Given the description of an element on the screen output the (x, y) to click on. 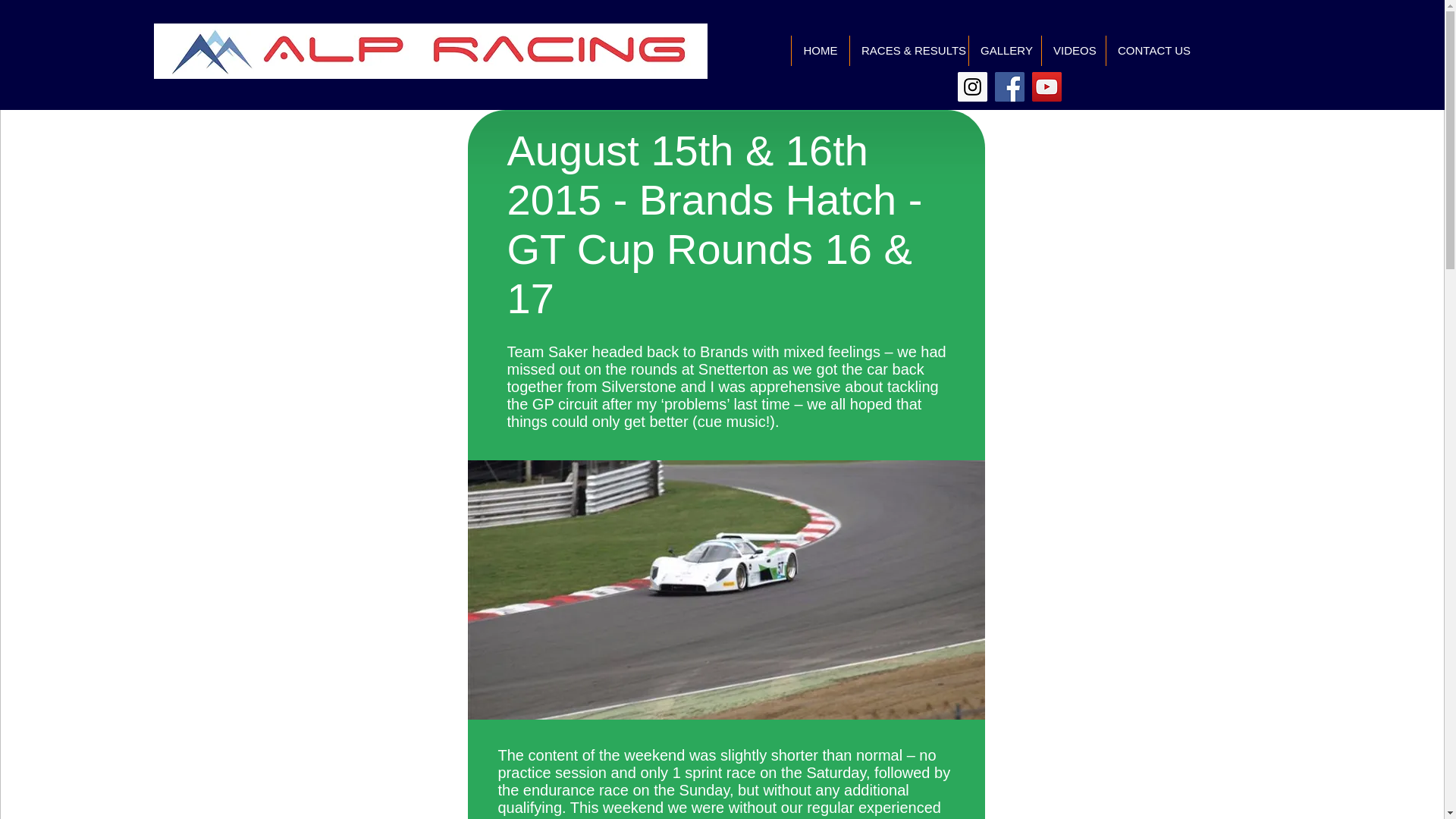
GALLERY (1004, 51)
HOME (819, 51)
CONTACT US (1153, 51)
VIDEOS (1073, 51)
